Given the description of an element on the screen output the (x, y) to click on. 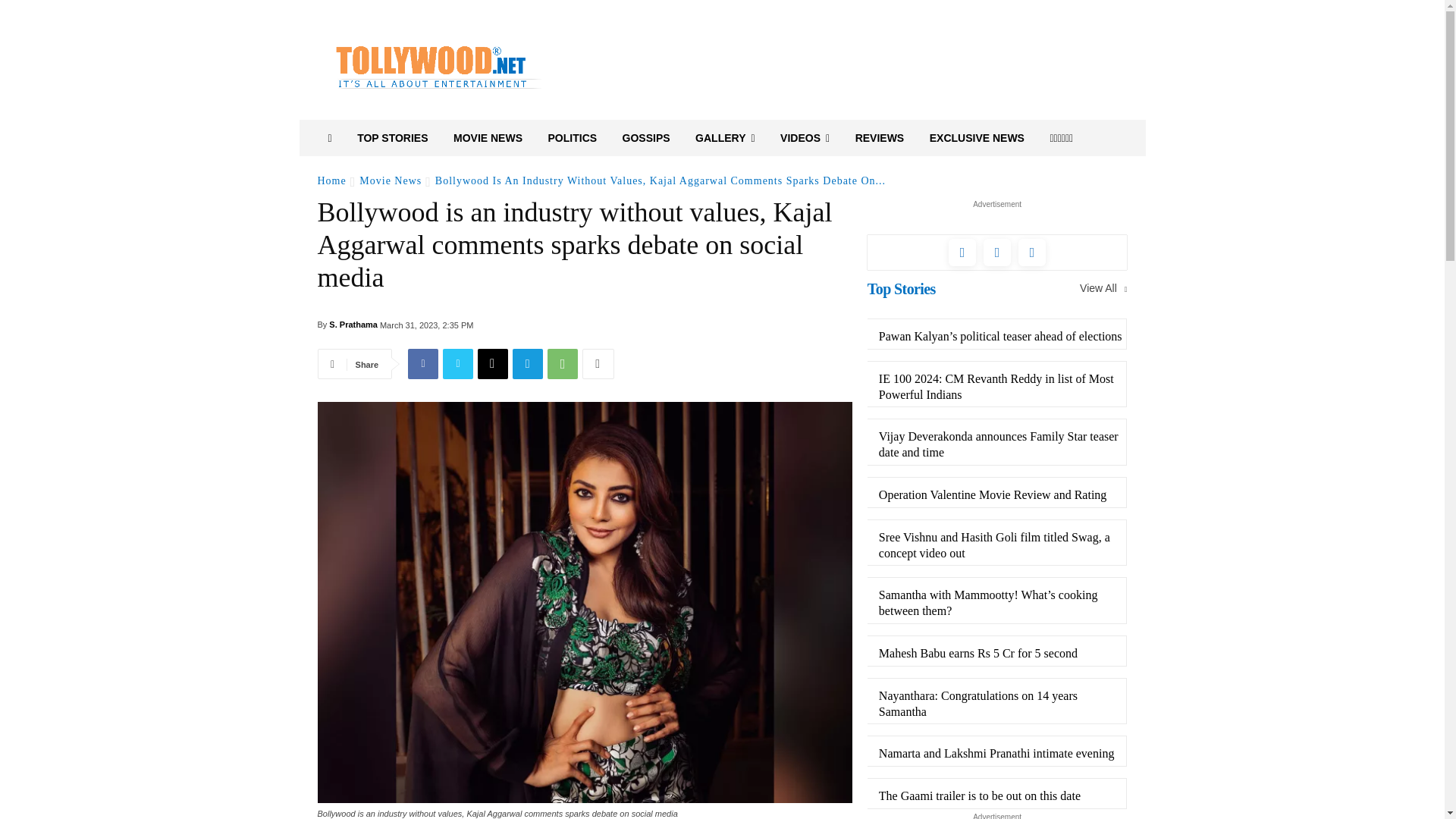
WhatsApp (562, 363)
More (598, 363)
Copy URL (492, 363)
Twitter (457, 363)
Facebook (422, 363)
View all posts in Movie News (390, 180)
Telegram (527, 363)
